Given the description of an element on the screen output the (x, y) to click on. 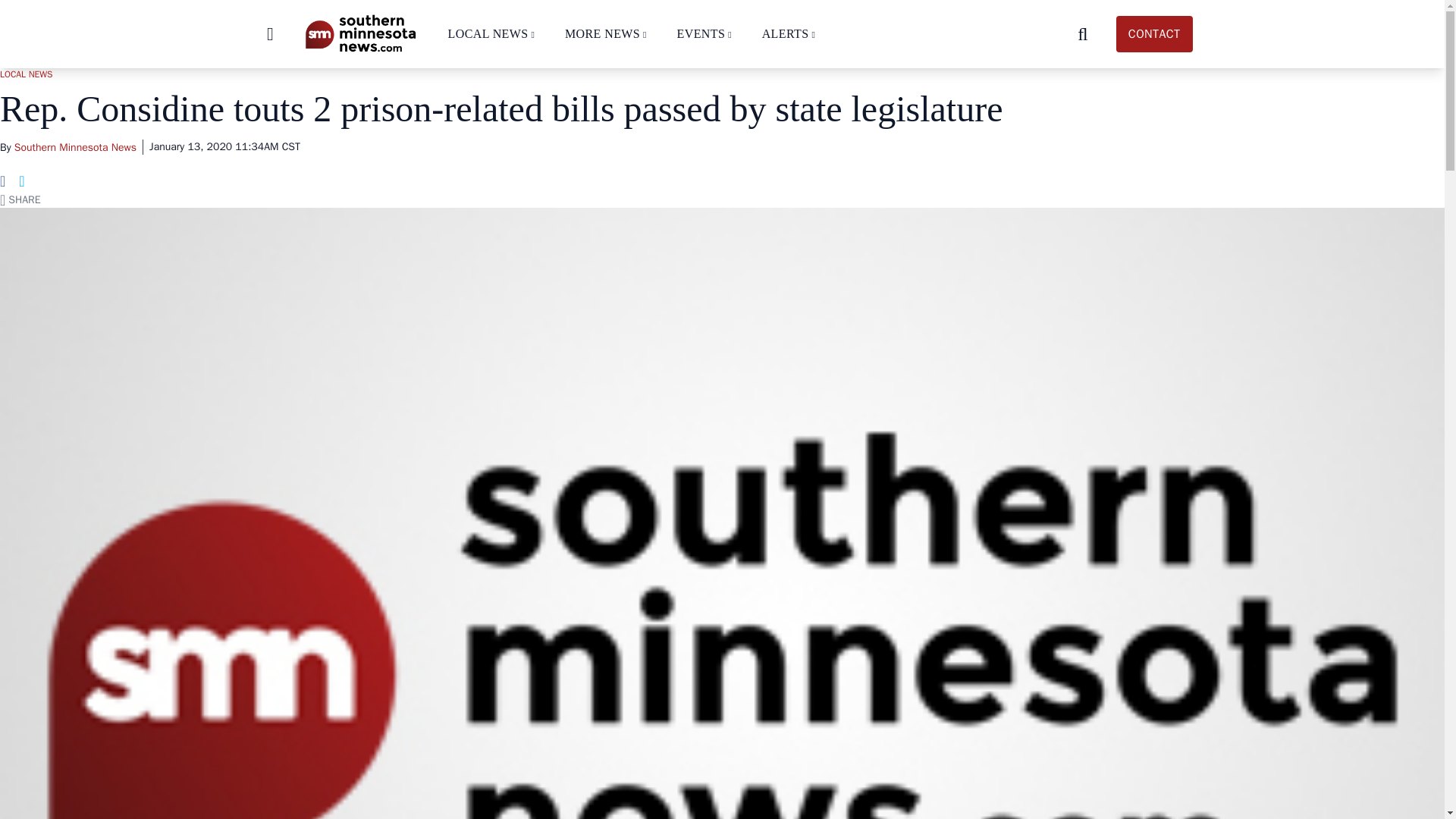
MORE NEWS (602, 33)
LOCAL NEWS (486, 33)
Southern Minnesota News (359, 33)
